Given the description of an element on the screen output the (x, y) to click on. 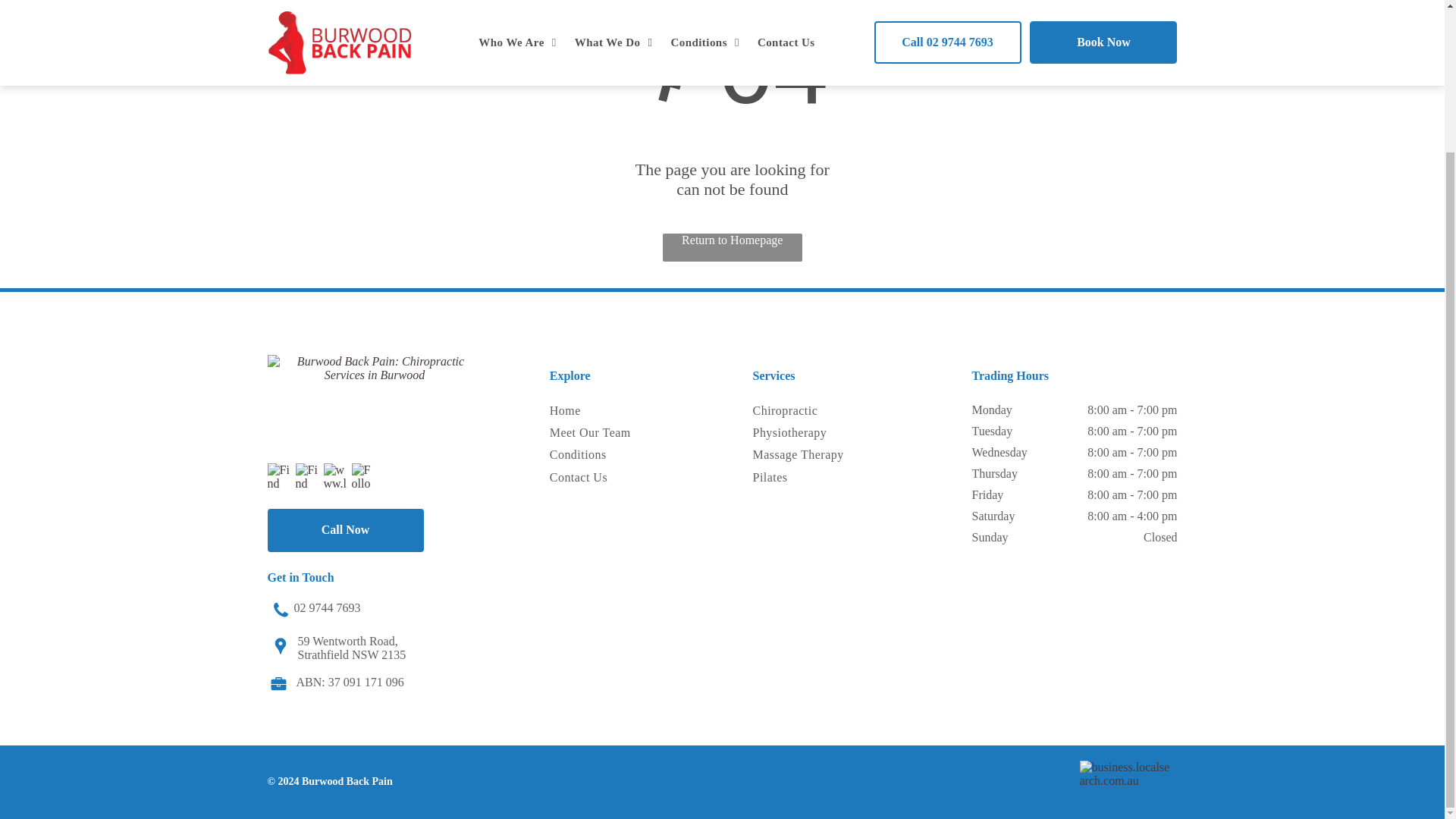
Meet Our Team (598, 433)
59 Wentworth Road, Strathfield NSW 2135 (351, 646)
02 9744 7693 (327, 606)
Burwood Back Pain: Chiropractic Services in Burwood (373, 400)
Follow Us On Instagram (363, 474)
Conditions (598, 455)
Physiotherapy (809, 433)
business.localsearch.com.au (1126, 778)
Find Us On Facebook (278, 474)
Find Us On GBP (307, 474)
